Given the description of an element on the screen output the (x, y) to click on. 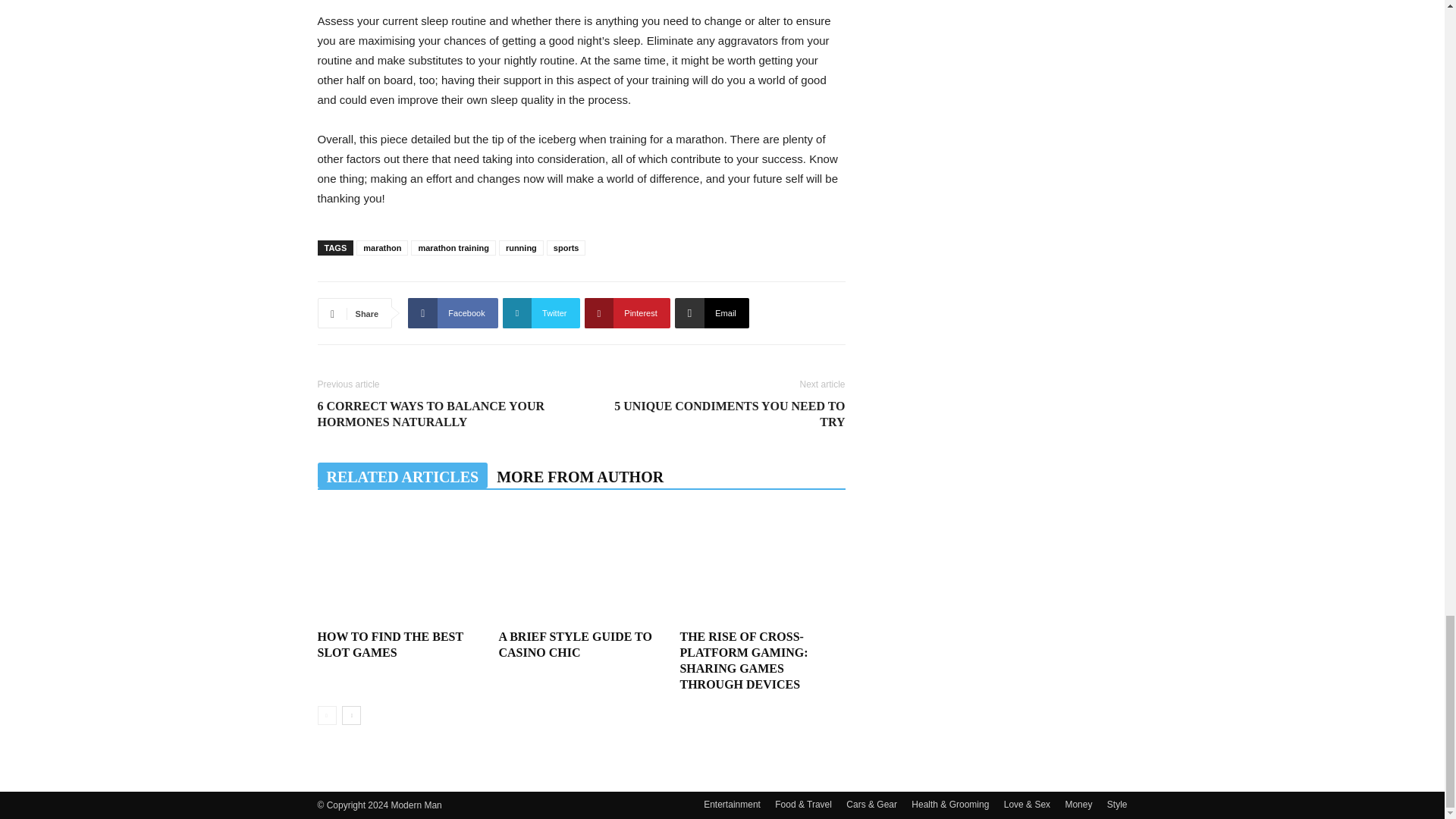
A Brief Style Guide to Casino Chic (573, 644)
How to find the best slot games (390, 644)
A Brief Style Guide to Casino Chic (580, 567)
How to find the best slot games (399, 567)
